Given the description of an element on the screen output the (x, y) to click on. 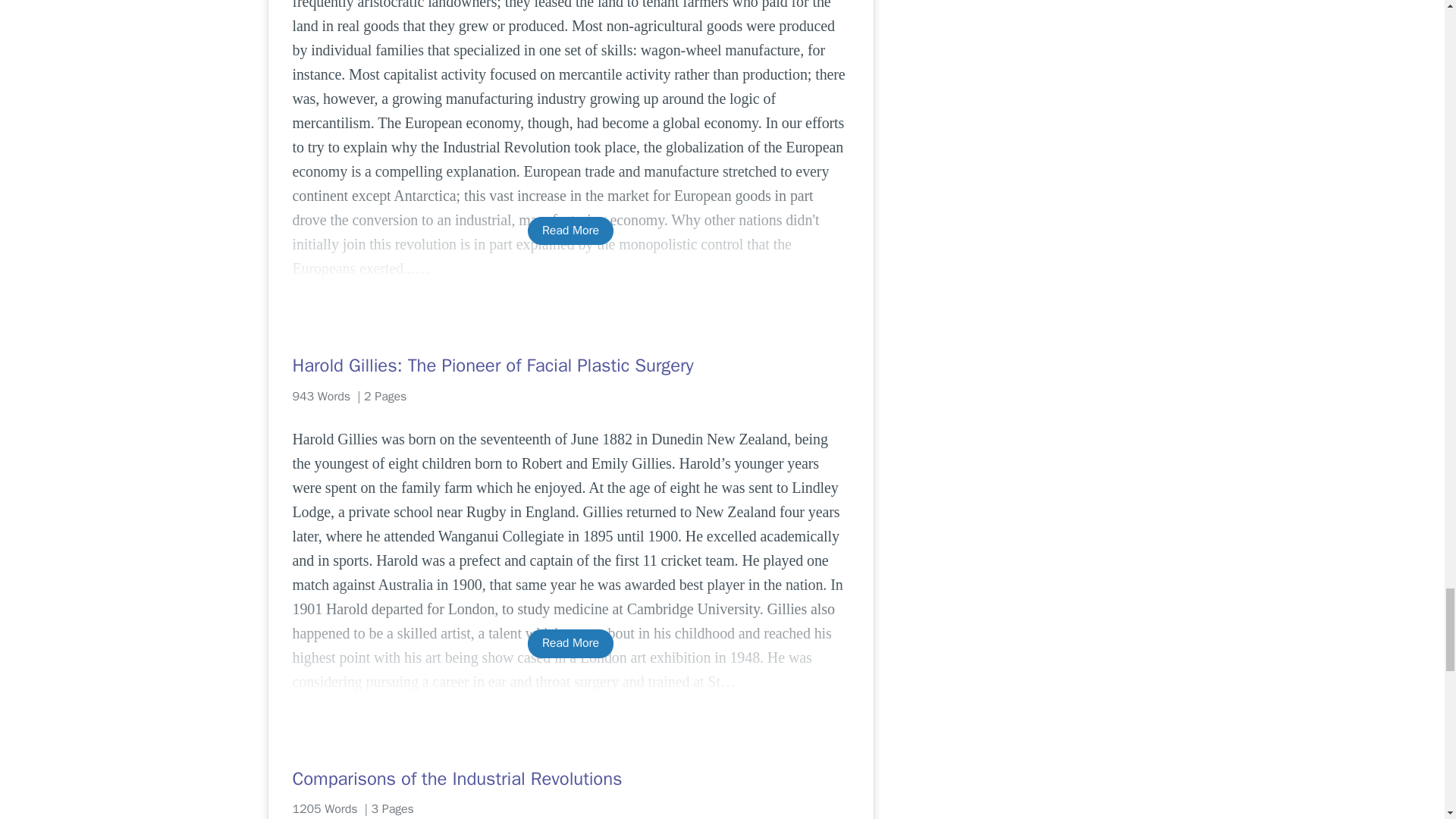
Harold Gillies: The Pioneer of Facial Plastic Surgery (570, 364)
Read More (569, 230)
